Given the description of an element on the screen output the (x, y) to click on. 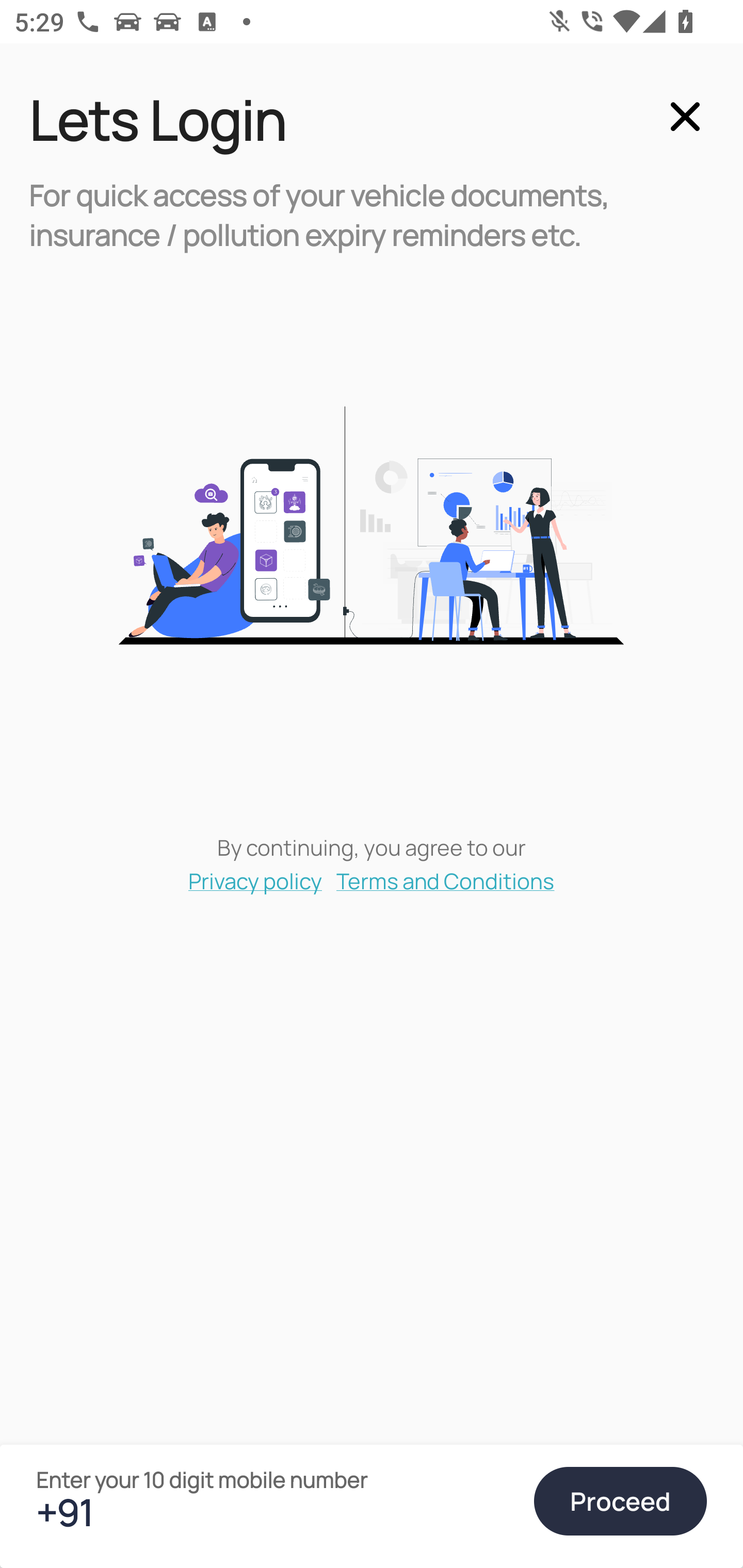
Privacy policy (254, 880)
Terms and Conditions (445, 880)
Proceed (620, 1501)
Enter your 10 digit mobile number (275, 1512)
